Given the description of an element on the screen output the (x, y) to click on. 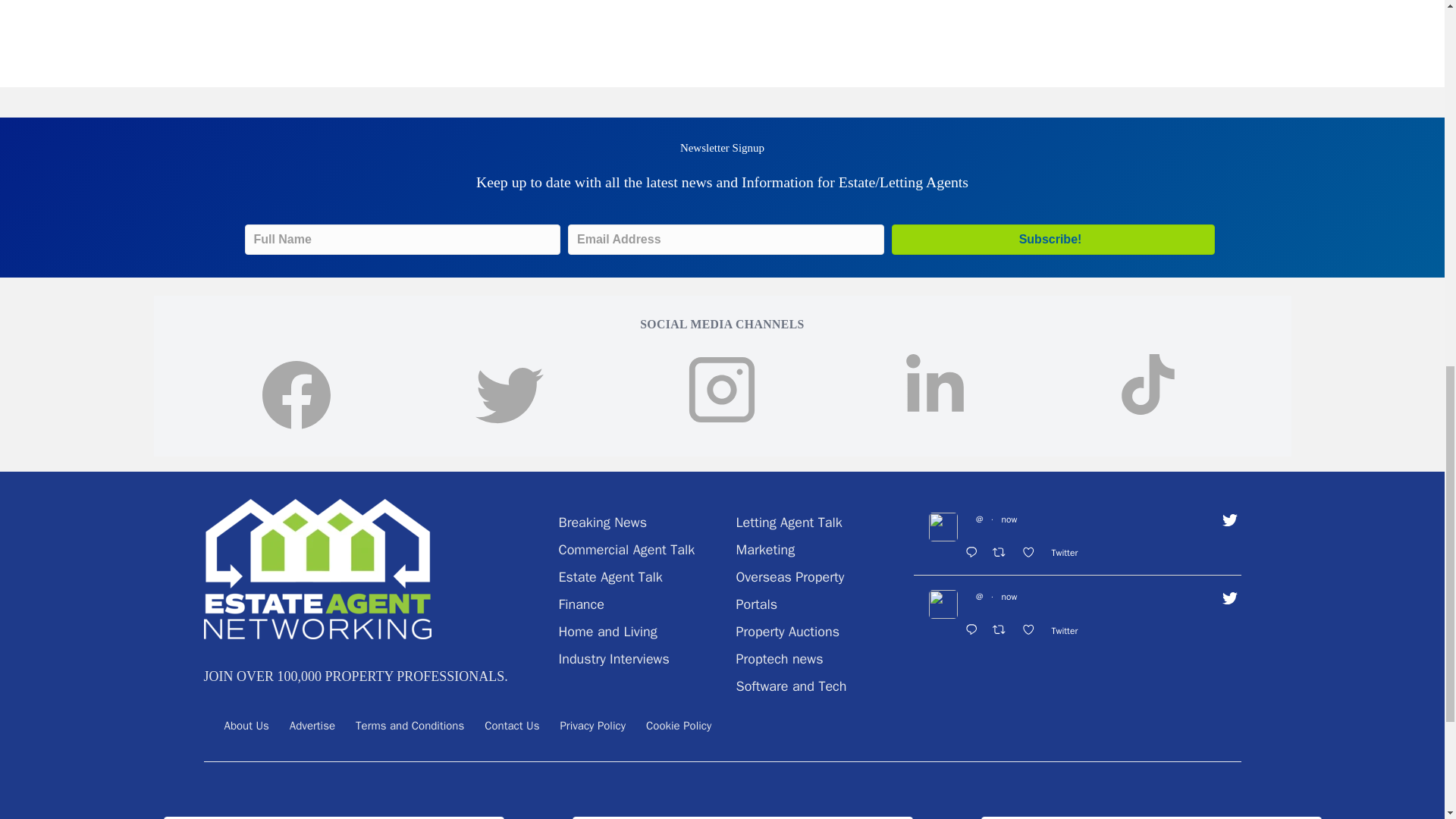
Finance (580, 604)
Retweet on Twitter (1002, 553)
Portals (756, 604)
Like on Twitter (1031, 553)
Proptech news (778, 658)
Subscribe! (1053, 239)
Software and Tech (790, 686)
Industry Interviews (612, 658)
Overseas Property (789, 576)
Home and Living (606, 631)
